Given the description of an element on the screen output the (x, y) to click on. 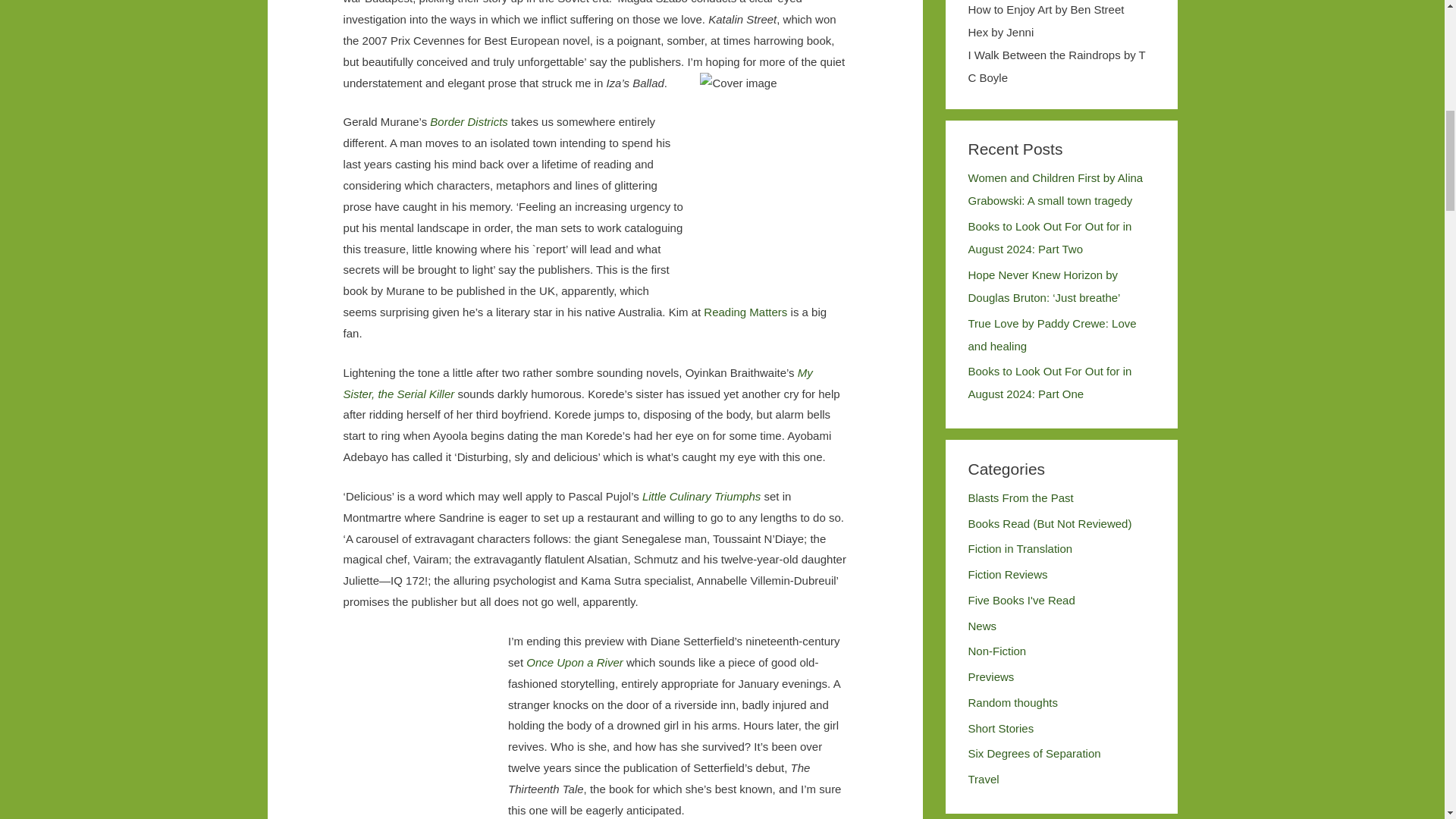
Border Districts (468, 121)
Little Culinary Triumphs (703, 495)
My Sister, the Serial Killer (577, 383)
Once Upon a River (574, 662)
Reading Matters (745, 311)
